Given the description of an element on the screen output the (x, y) to click on. 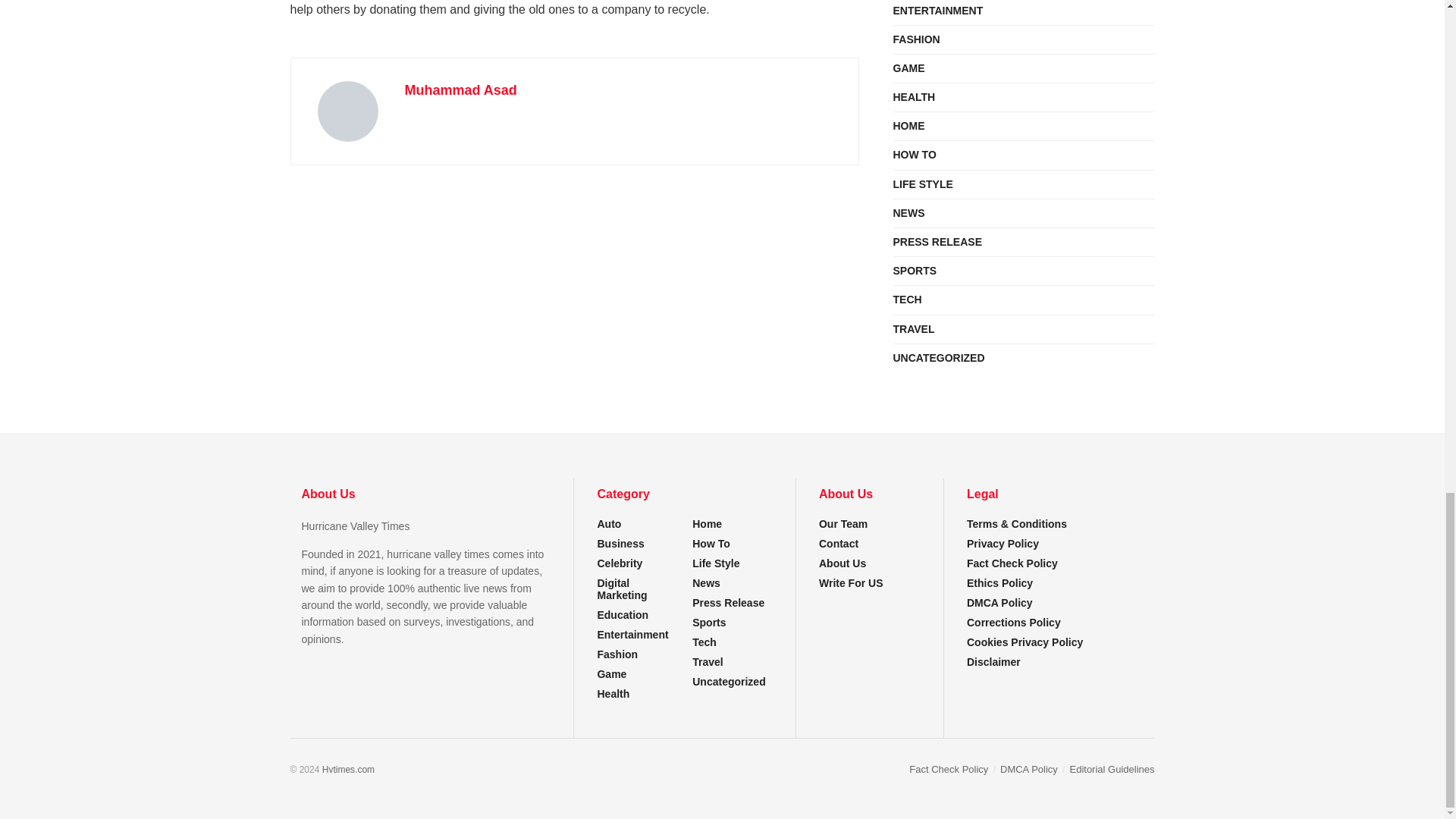
Hv Times (347, 769)
